Given the description of an element on the screen output the (x, y) to click on. 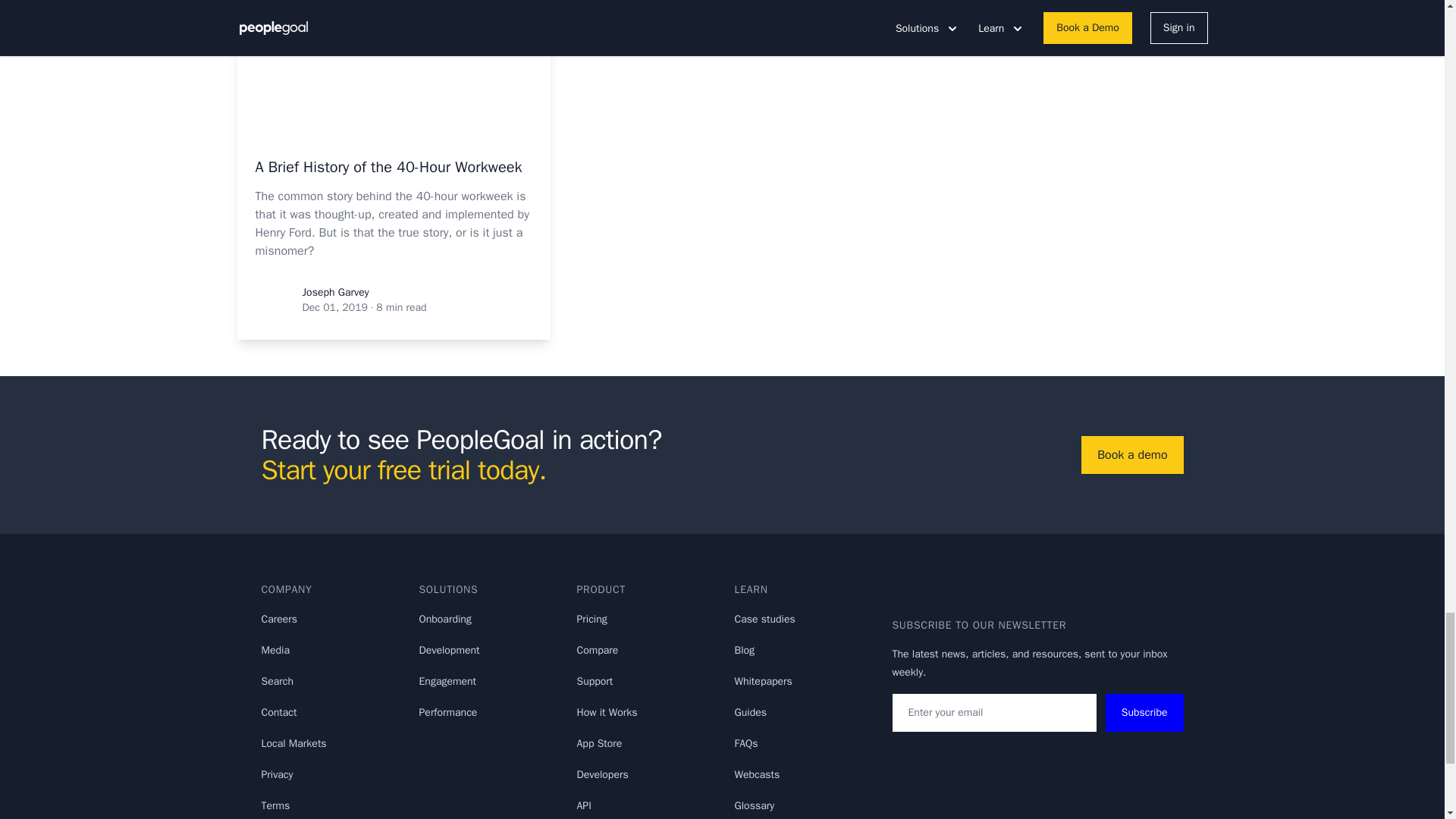
API (583, 805)
Book a demo (1131, 454)
Compare (596, 649)
Developers (601, 774)
Engagement (447, 680)
Search (277, 680)
Development (449, 649)
Terms (274, 805)
Pricing (591, 618)
Whitepapers (762, 680)
Media (274, 649)
Onboarding (444, 618)
Case studies (763, 618)
Privacy (276, 774)
